Given the description of an element on the screen output the (x, y) to click on. 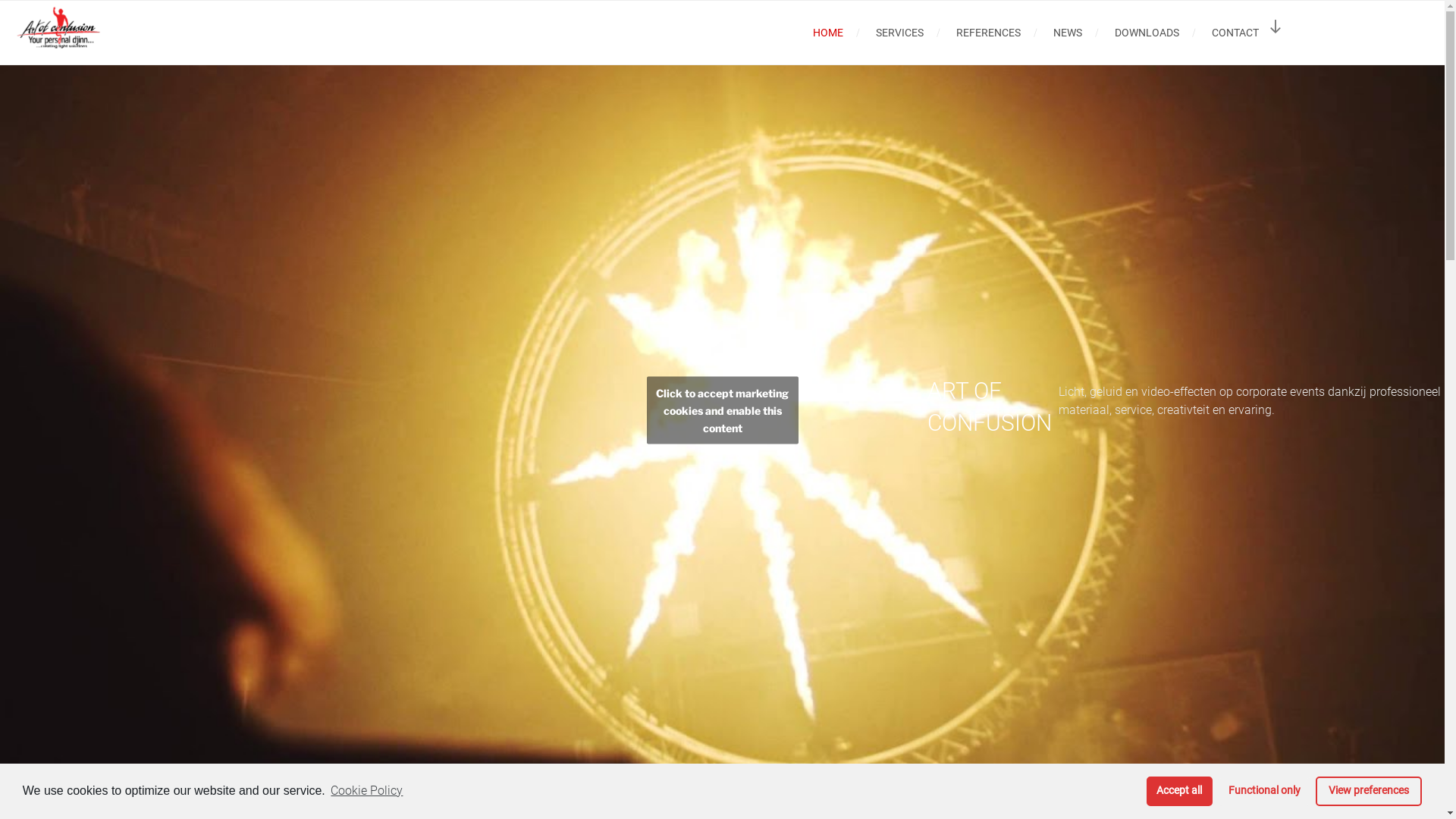
REFERENCES Element type: text (987, 31)
Click to accept marketing cookies and enable this content Element type: text (721, 409)
CONTACT Element type: text (1234, 31)
SERVICES Element type: text (899, 31)
Functional only Element type: text (1263, 791)
Scroll down to content Element type: text (1275, 26)
NEWS Element type: text (1067, 31)
DOWNLOADS Element type: text (1146, 31)
Skip to content Element type: text (0, 0)
View preferences Element type: text (1368, 791)
Accept all Element type: text (1179, 791)
HOME Element type: text (827, 31)
Cookie Policy Element type: text (365, 790)
